Given the description of an element on the screen output the (x, y) to click on. 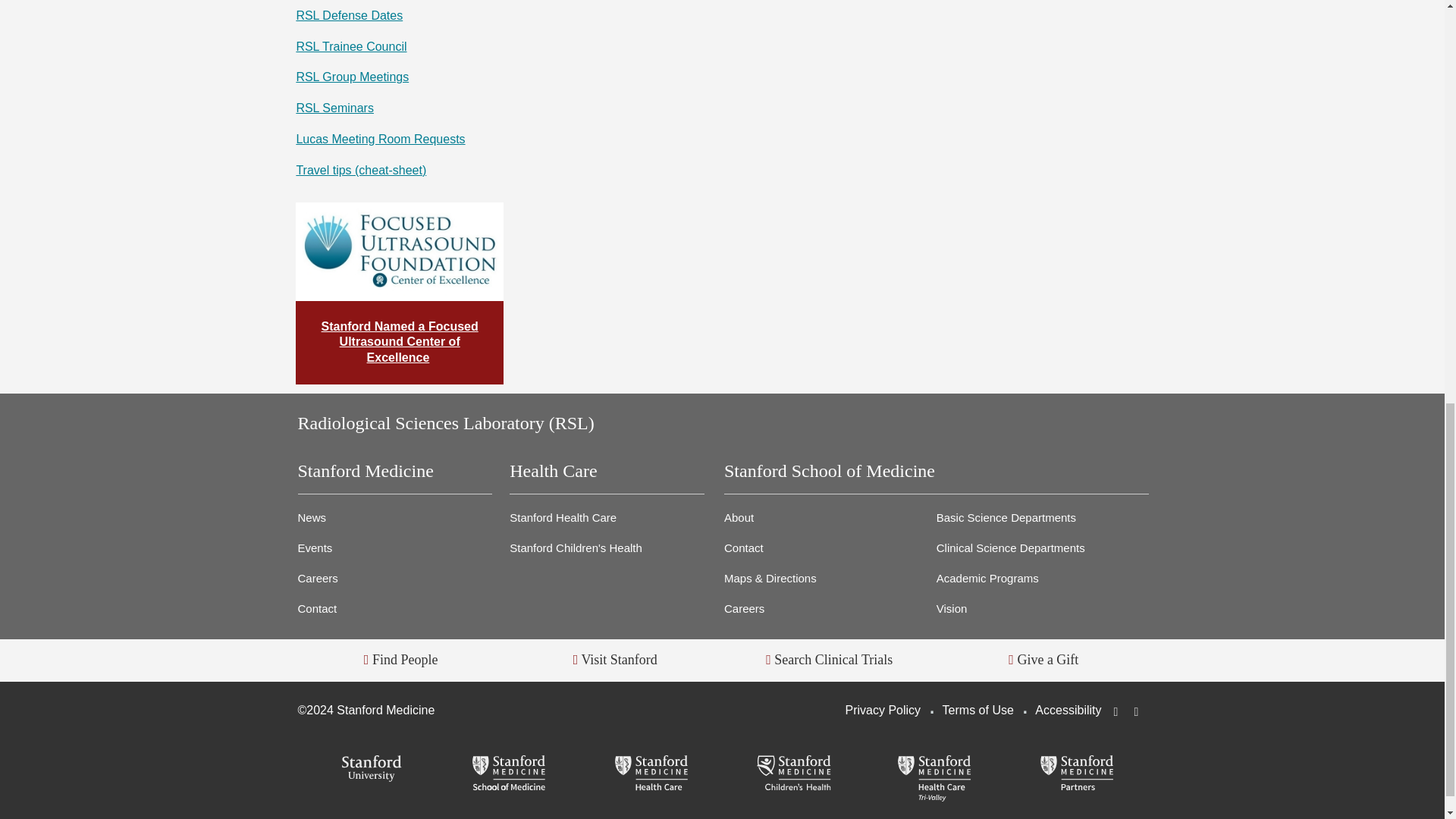
Stanford University (368, 769)
Stanford School of Medicine (509, 773)
Stanford Medicine Partners (1076, 773)
Stanford Health Care (650, 773)
Stanford Health Care Tri-Valley (934, 778)
FUSF  (399, 251)
Stanford Children's Health (793, 773)
